Given the description of an element on the screen output the (x, y) to click on. 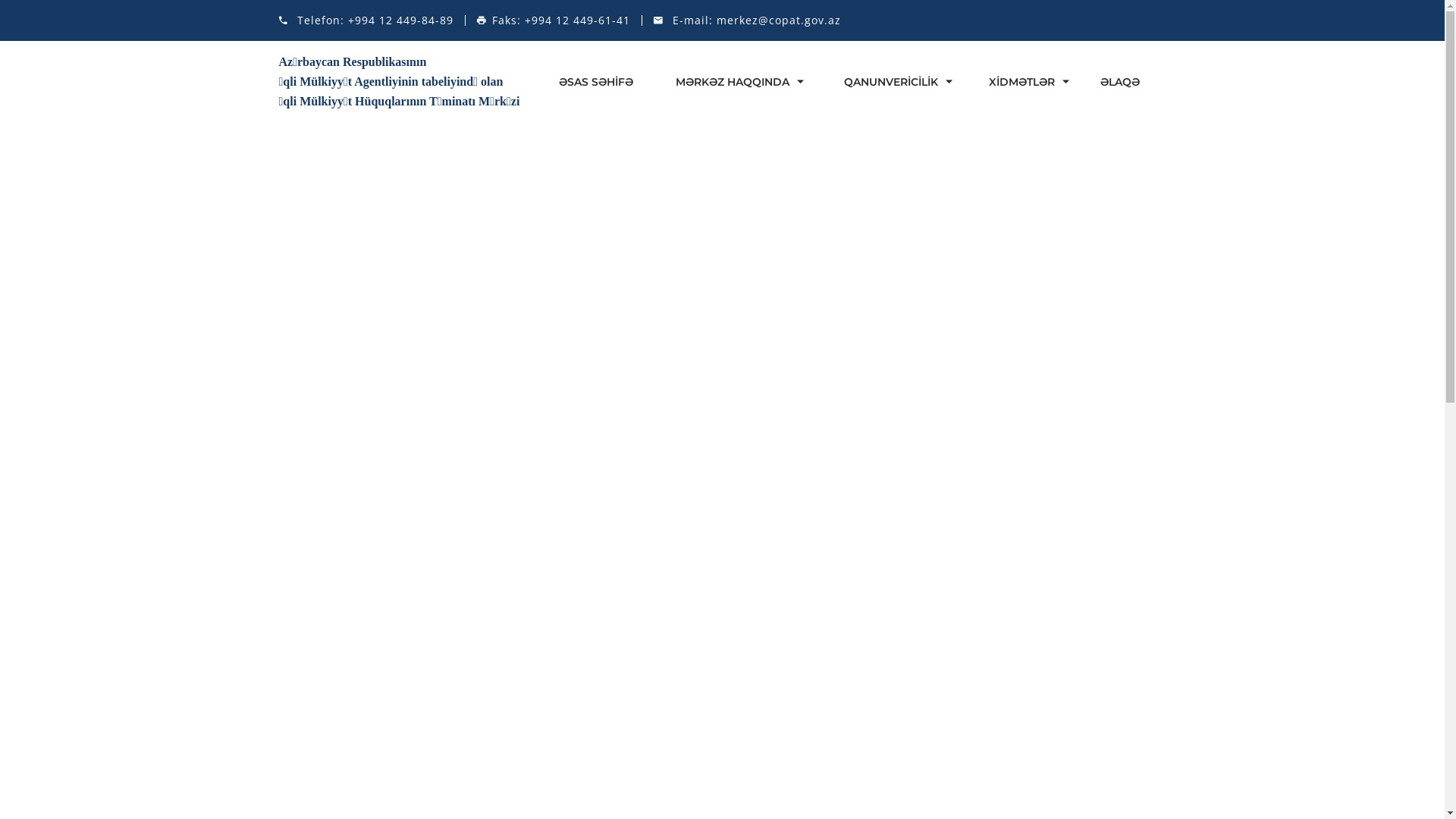
merkez@copat.gov.az Element type: text (777, 19)
+994 12 449-84-89 Element type: text (399, 19)
+994 12 449-61-41 Element type: text (577, 19)
